Given the description of an element on the screen output the (x, y) to click on. 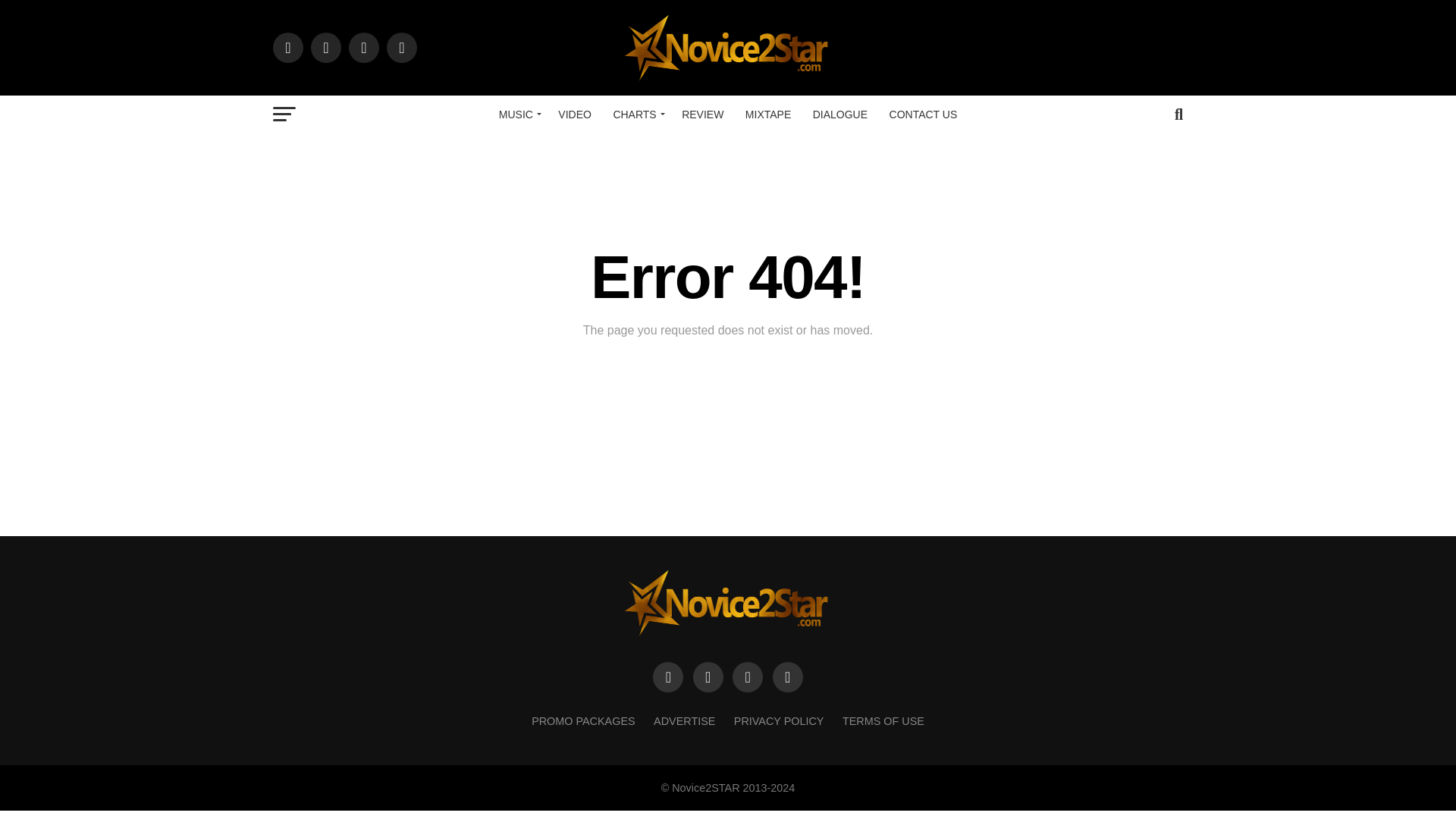
MUSIC (517, 114)
DIALOGUE (839, 114)
REVIEW (702, 114)
VIDEO (573, 114)
MIXTAPE (767, 114)
CHARTS (636, 114)
CONTACT US (923, 114)
